Given the description of an element on the screen output the (x, y) to click on. 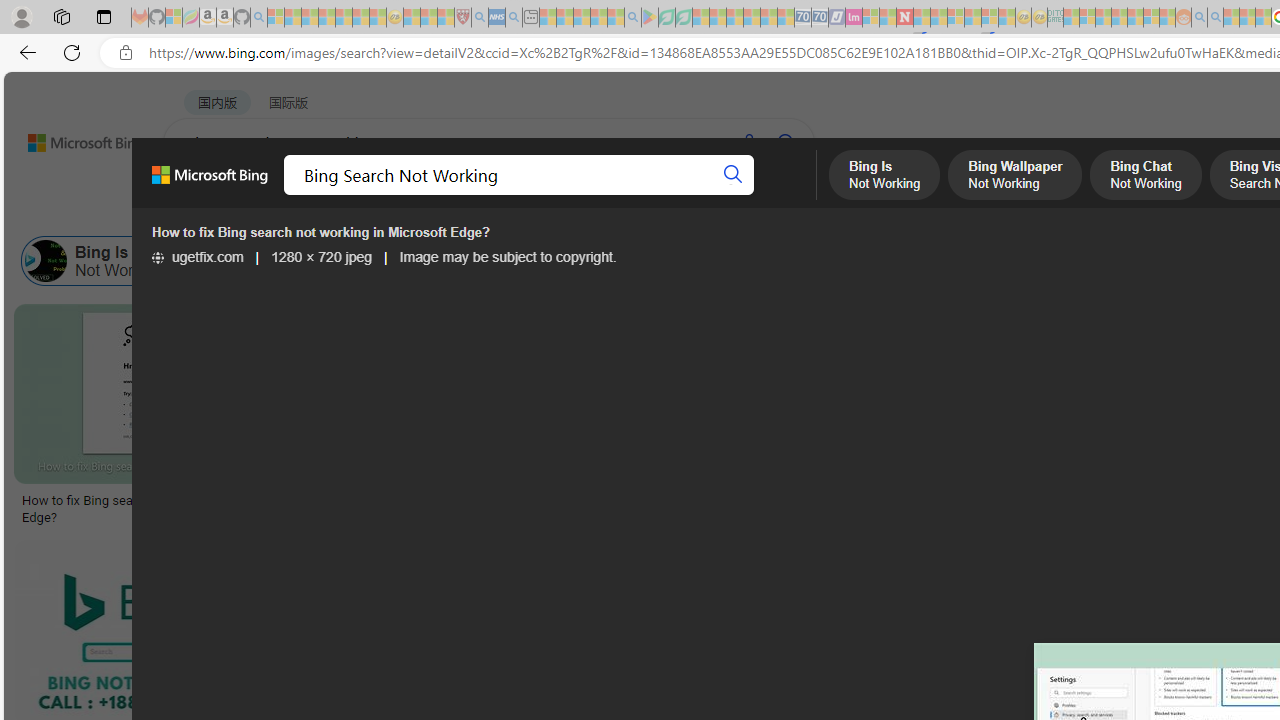
How to fix Bing search not working in Microsoft Edge? (170, 508)
Fix Bing Search Not Working in Microsoft Edge (6 Easy Ways) (826, 508)
Robert H. Shmerling, MD - Harvard Health - Sleeping (462, 17)
Why Is My Bing Not Working (982, 260)
How to fix Bing search not working in Microsoft Edge? (170, 508)
WEB (201, 195)
Image result for Bing Search Not Working (826, 393)
Utah sues federal government - Search - Sleeping (1215, 17)
